Given the description of an element on the screen output the (x, y) to click on. 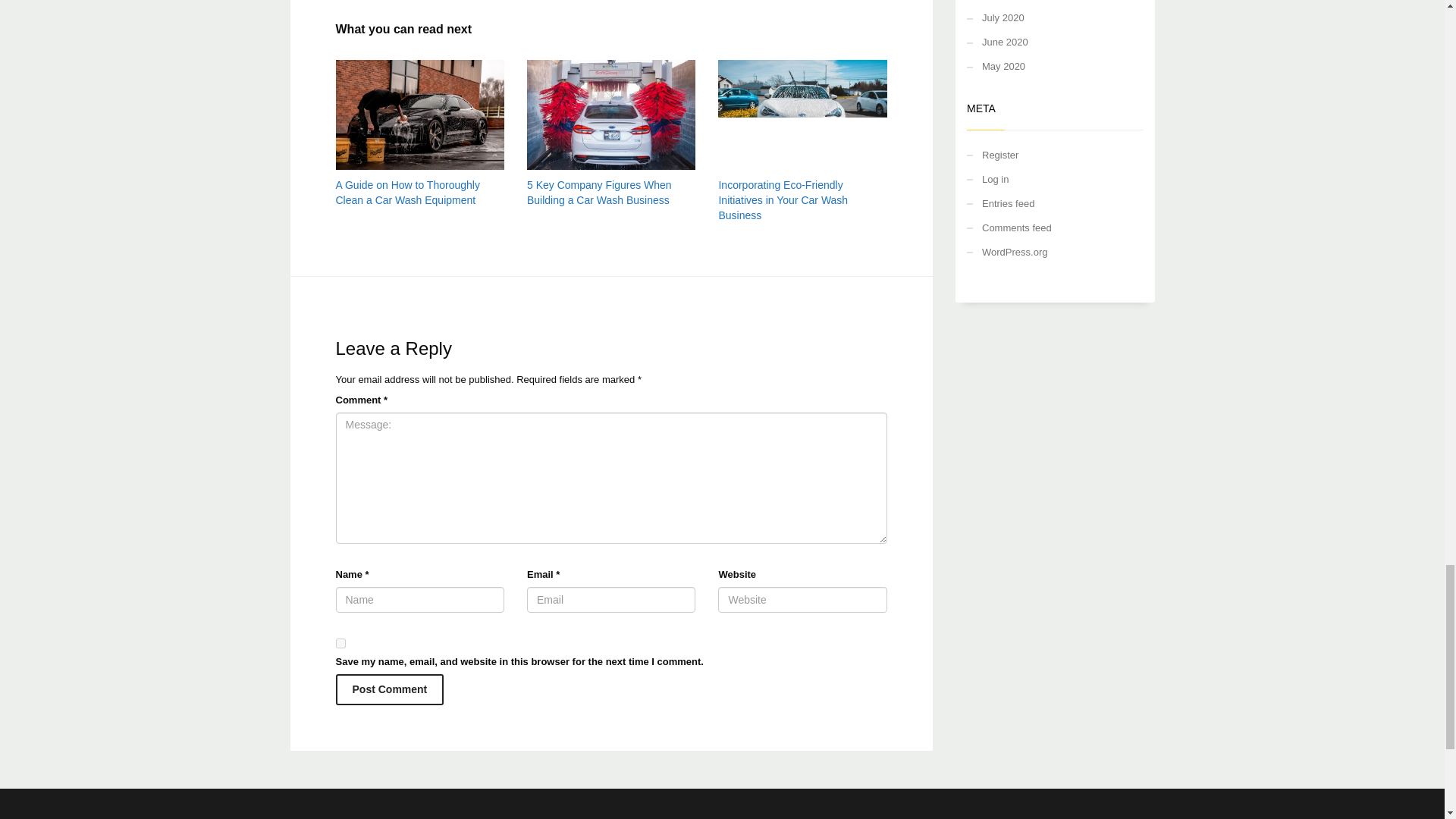
kenny eliason  YU2u99cwPk unsplash (611, 113)
erik mclean D eFjDWxIQs unsplash (801, 113)
car wash 1 (418, 113)
Post Comment (389, 689)
yes (339, 643)
